Given the description of an element on the screen output the (x, y) to click on. 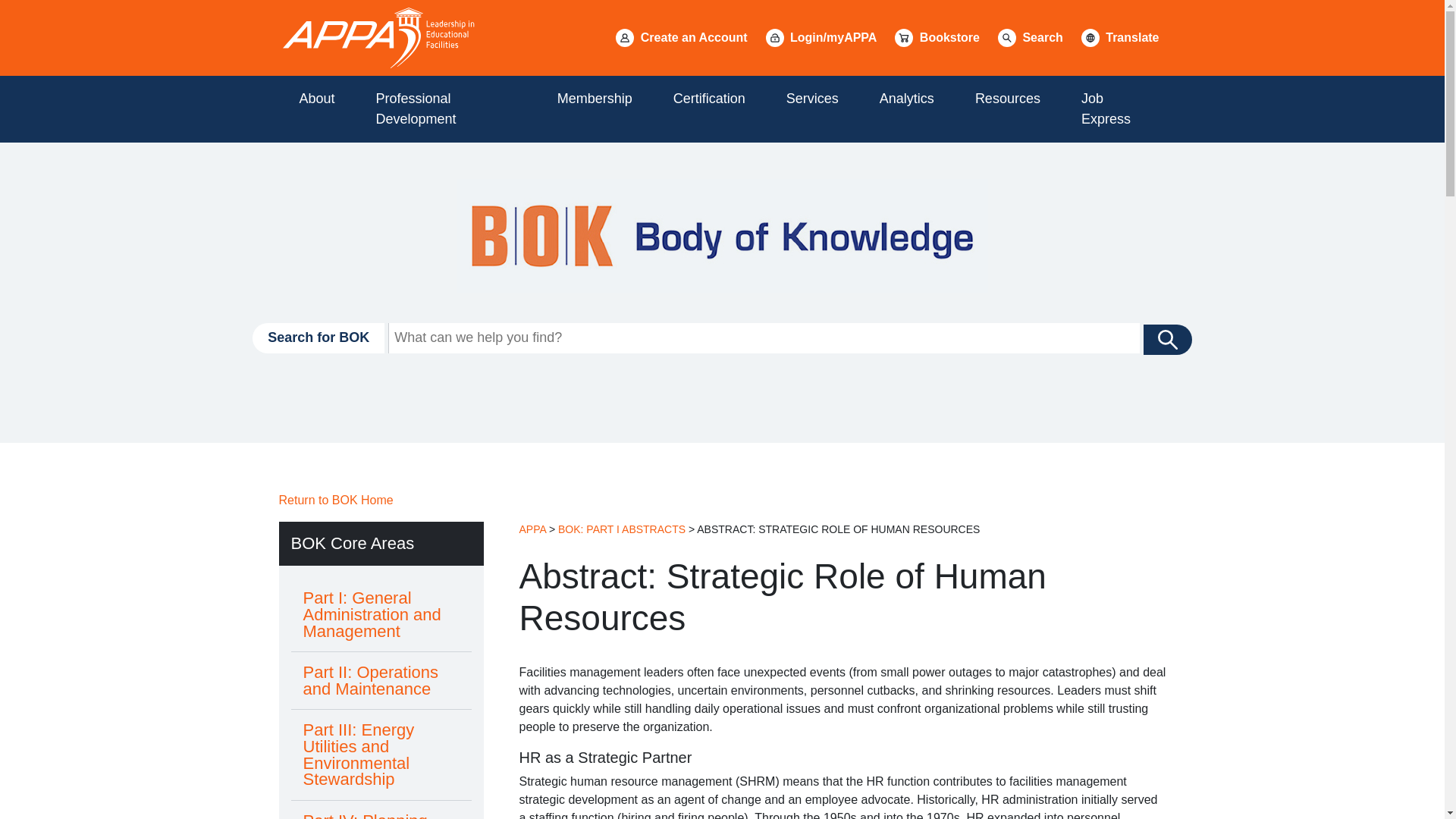
Translate (1119, 37)
Go to APPA. (532, 529)
Search (1029, 37)
Membership (594, 99)
APPA: Leadership in Educational Facilities (379, 37)
Bookstore (937, 37)
Professional Development (446, 109)
Go to the BOK: PART I Abstracts Foundation archives. (621, 529)
Create an Account (680, 37)
About (317, 99)
